Given the description of an element on the screen output the (x, y) to click on. 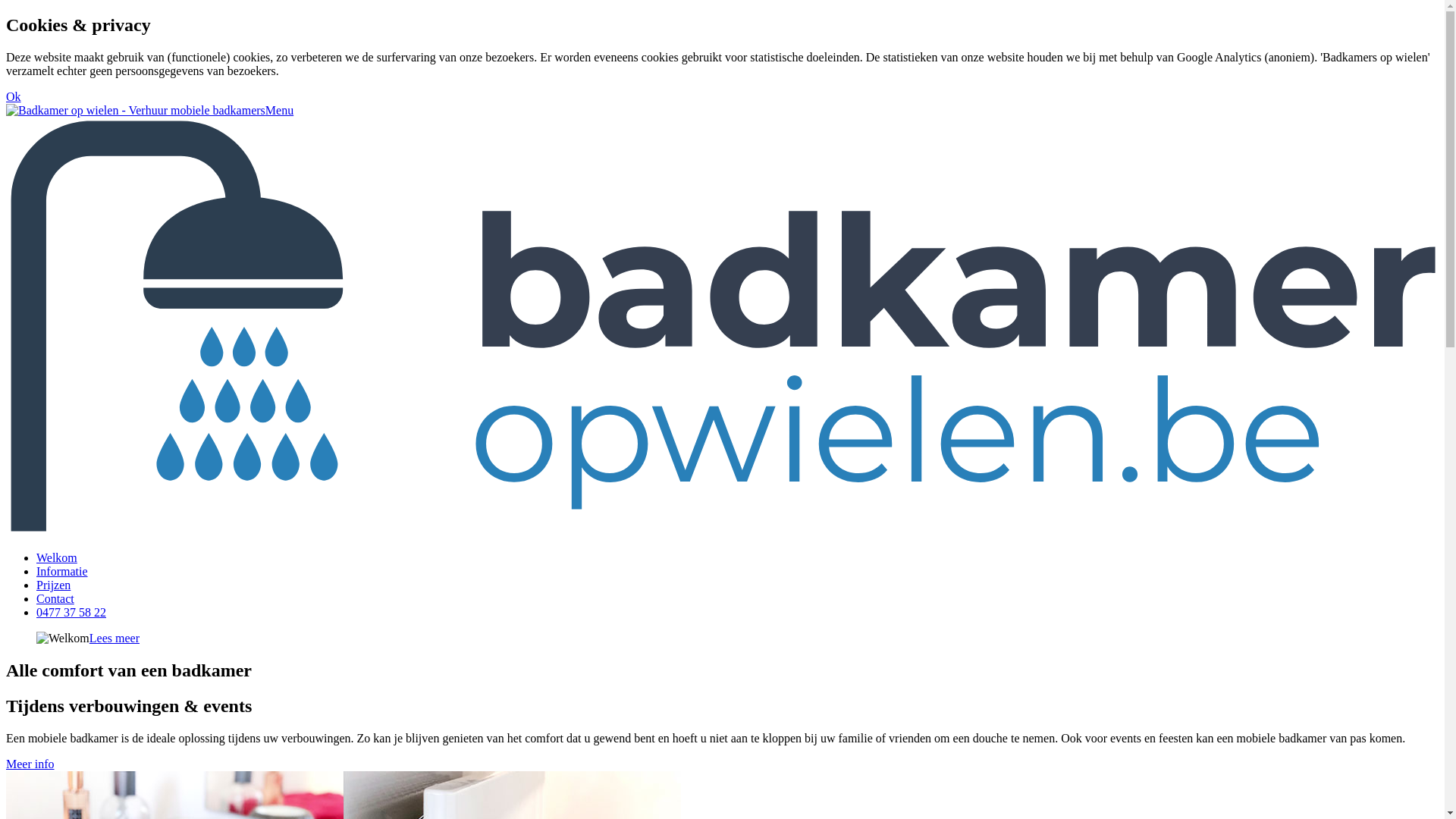
Informatie Element type: text (61, 570)
Meer info Element type: text (30, 763)
Contact Element type: text (55, 598)
Prijzen Element type: text (53, 584)
Welkom Element type: text (56, 557)
0477 37 58 22 Element type: text (71, 611)
Menu Element type: text (279, 109)
Lees meer Element type: text (114, 637)
Ok Element type: text (13, 96)
Badkamer op wielen - Verhuur mobiele badkamers Element type: hover (722, 531)
Badkamer op wielen - Verhuur mobiele badkamers Element type: hover (135, 109)
